Given the description of an element on the screen output the (x, y) to click on. 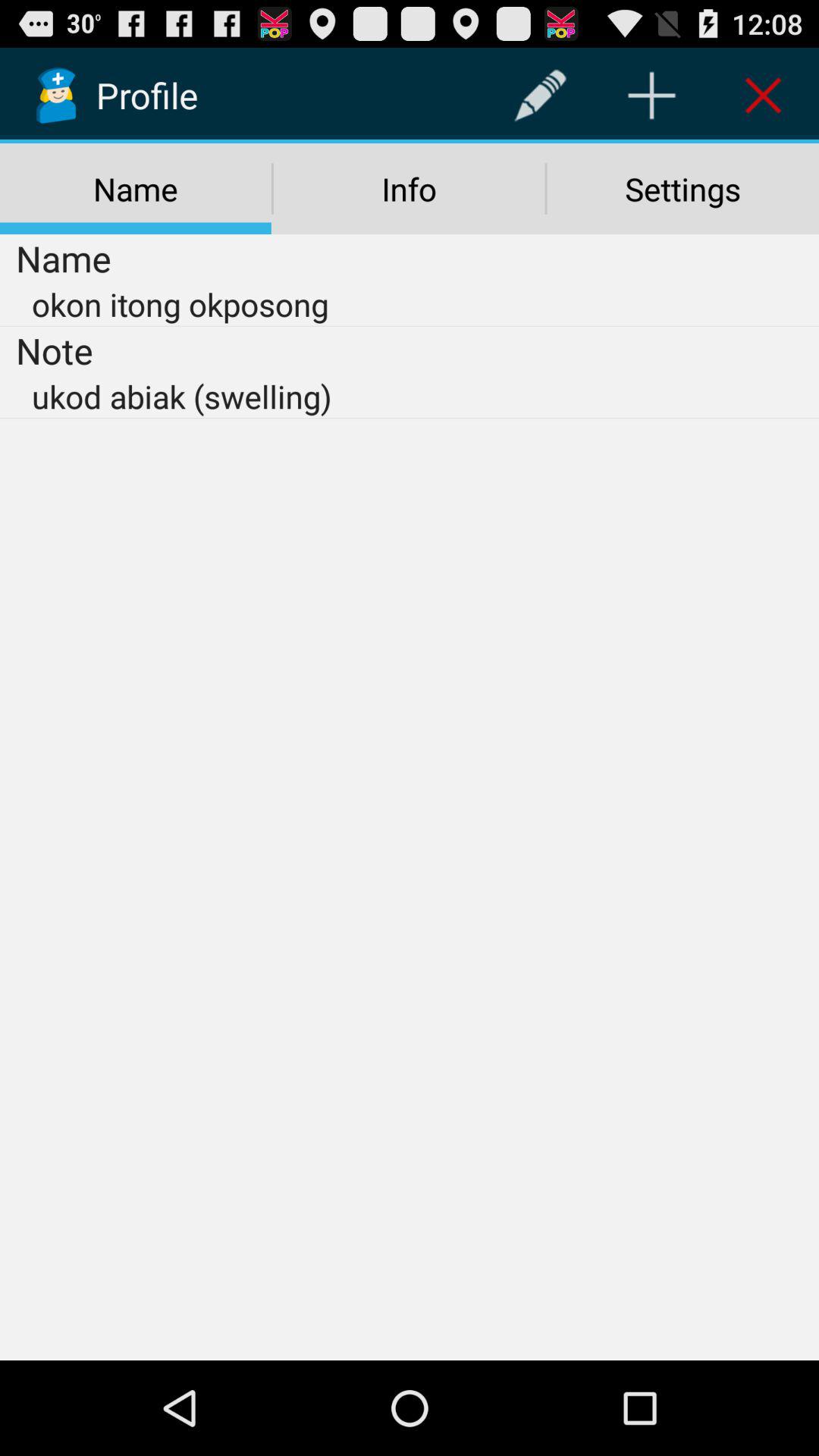
tap icon above the info icon (540, 95)
